Given the description of an element on the screen output the (x, y) to click on. 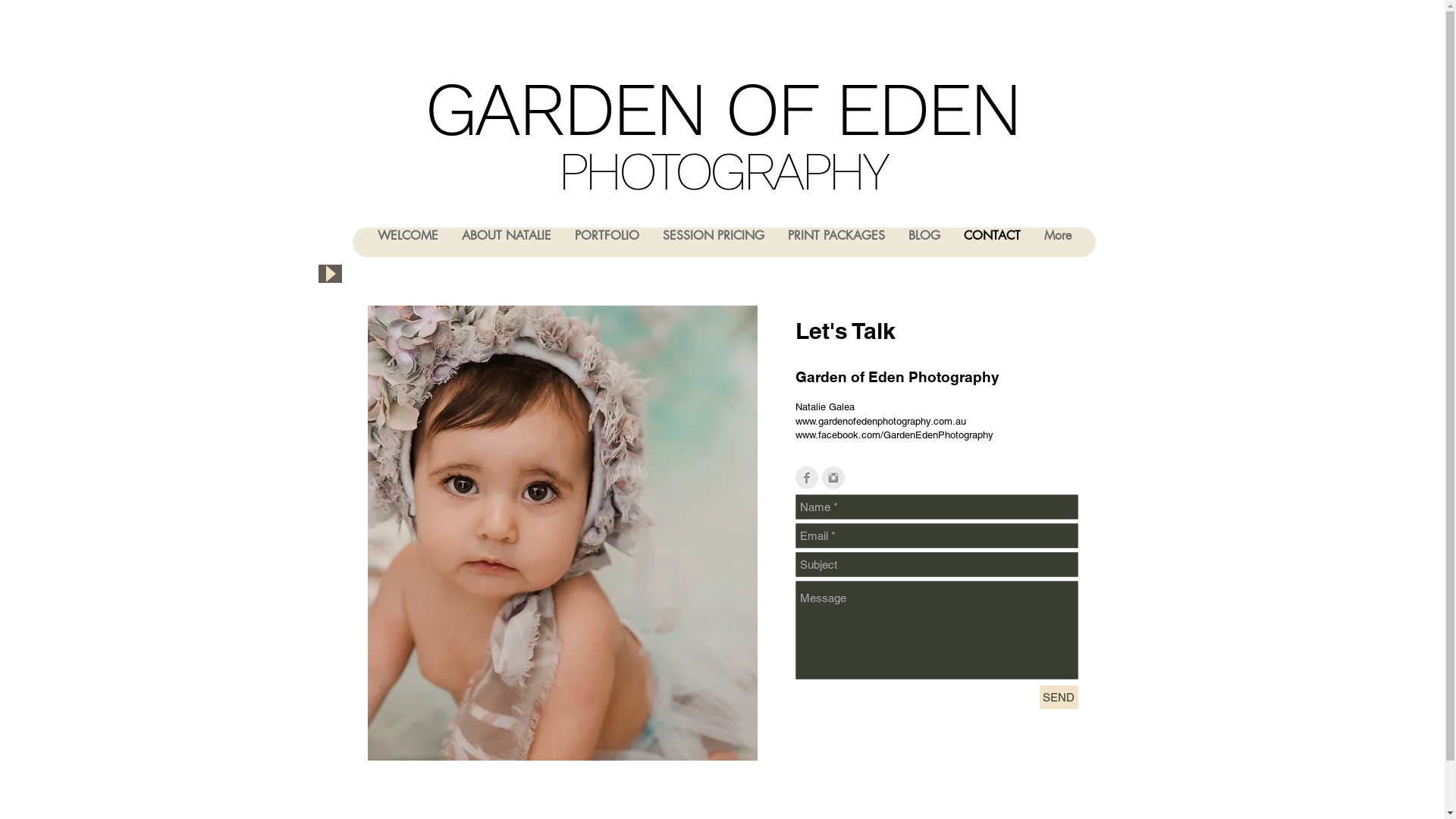
www.facebook.com/GardenEdenPhotography Element type: text (893, 434)
PORTFOLIO Element type: text (606, 242)
untitled-6441.JPG Element type: hover (561, 558)
BLOG Element type: text (923, 242)
SESSION PRICING Element type: text (712, 242)
WELCOME Element type: text (407, 242)
CONTACT Element type: text (990, 242)
SEND Element type: text (1057, 697)
PRINT PACKAGES Element type: text (835, 242)
ABOUT NATALIE Element type: text (504, 242)
